Given the description of an element on the screen output the (x, y) to click on. 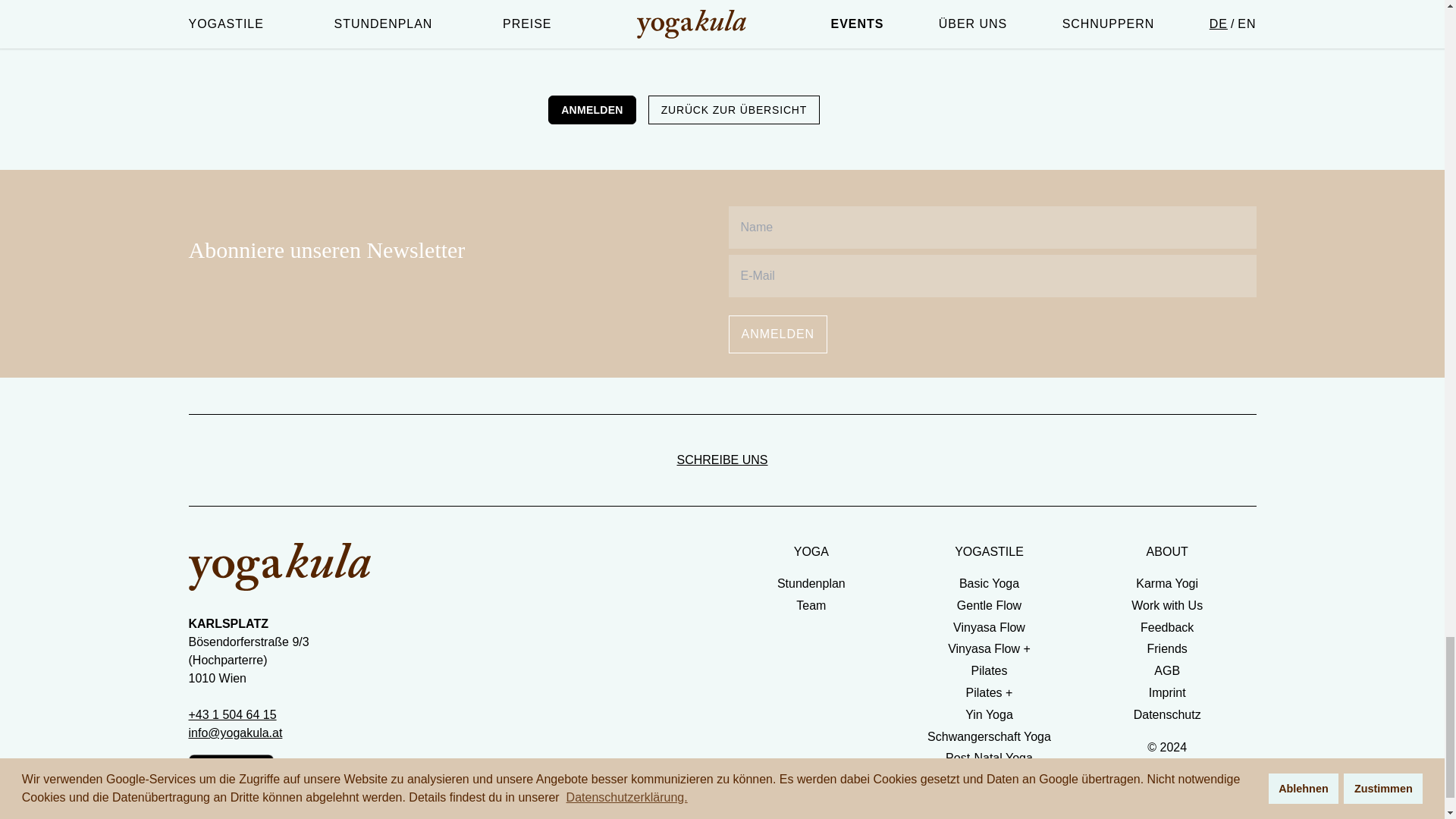
Team (810, 604)
Stundenplan (811, 583)
ANMELDEN (777, 333)
Gentle Flow (989, 604)
ANMELDEN (592, 109)
Basic Yoga (989, 583)
SCHREIBE UNS (721, 460)
